Given the description of an element on the screen output the (x, y) to click on. 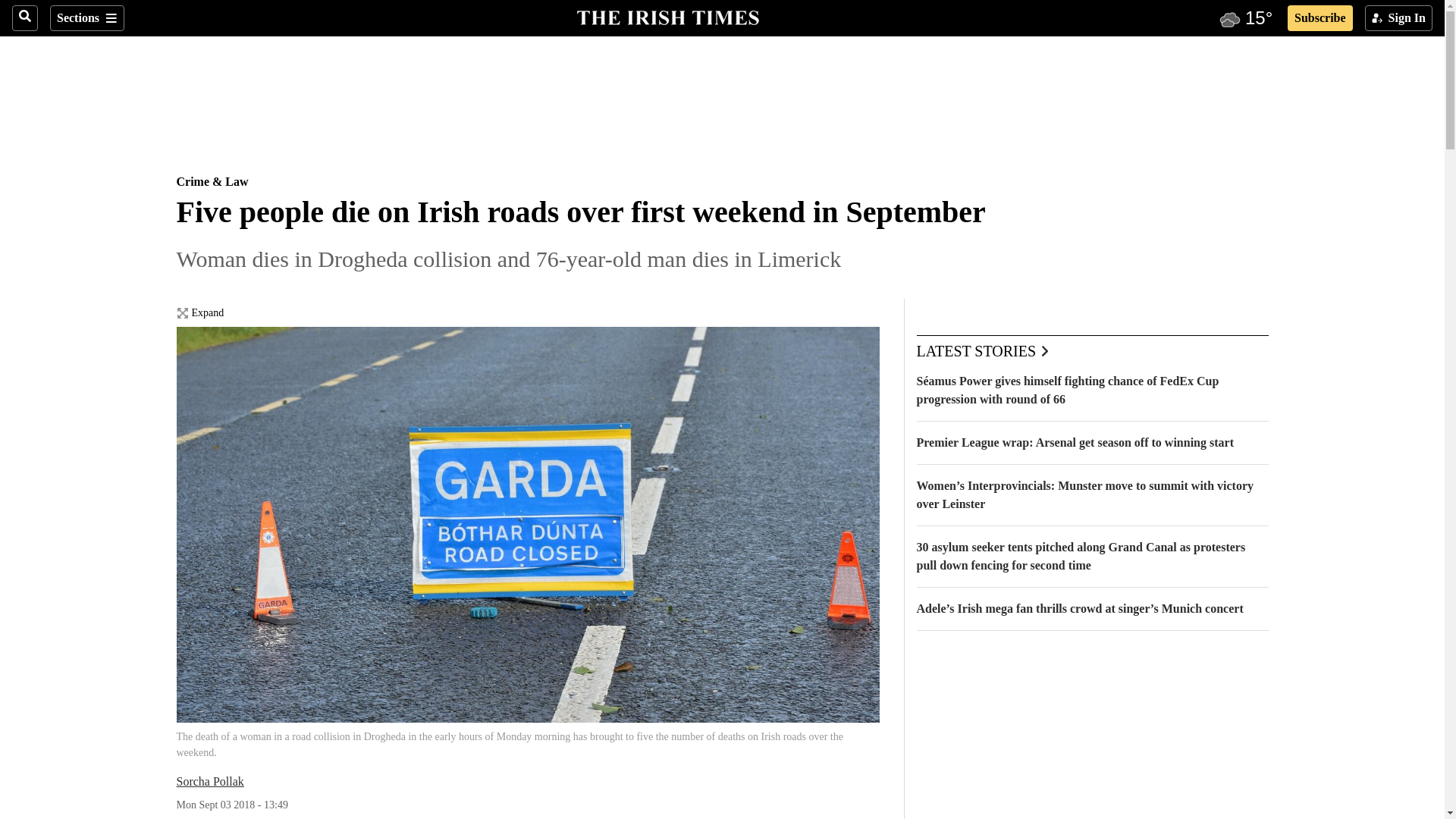
Sign In (1398, 17)
Sections (86, 17)
The Irish Times (667, 16)
Subscribe (1319, 17)
